Given the description of an element on the screen output the (x, y) to click on. 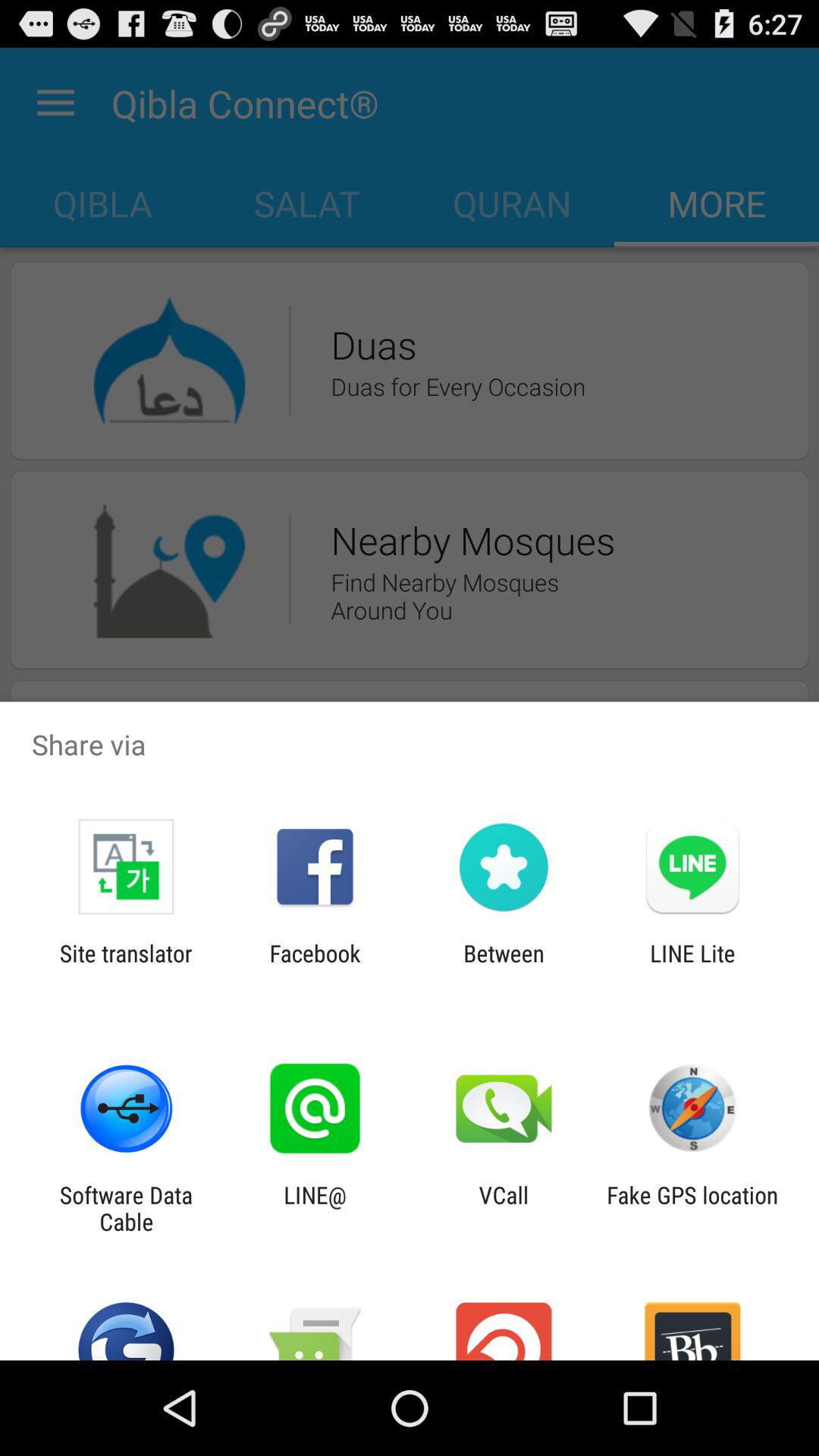
jump to the between icon (503, 966)
